Given the description of an element on the screen output the (x, y) to click on. 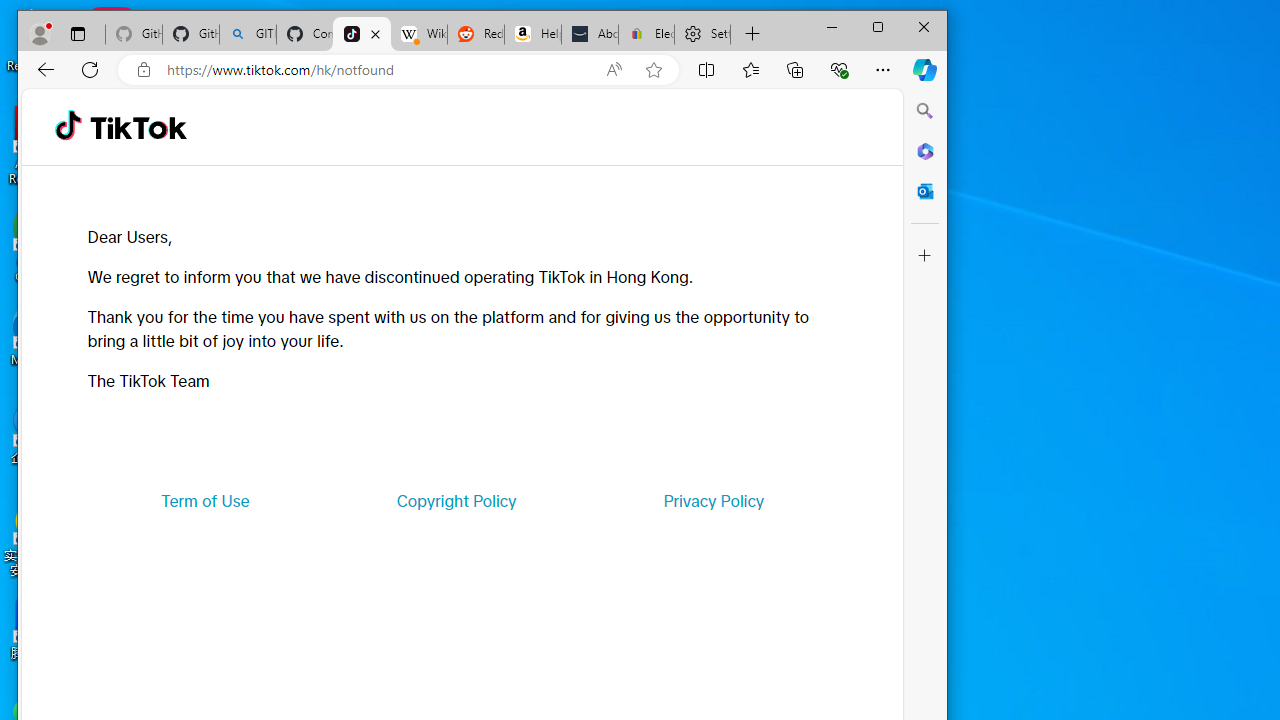
About Amazon (589, 34)
Wikipedia, the free encyclopedia (418, 34)
Copyright Policy (456, 500)
